Given the description of an element on the screen output the (x, y) to click on. 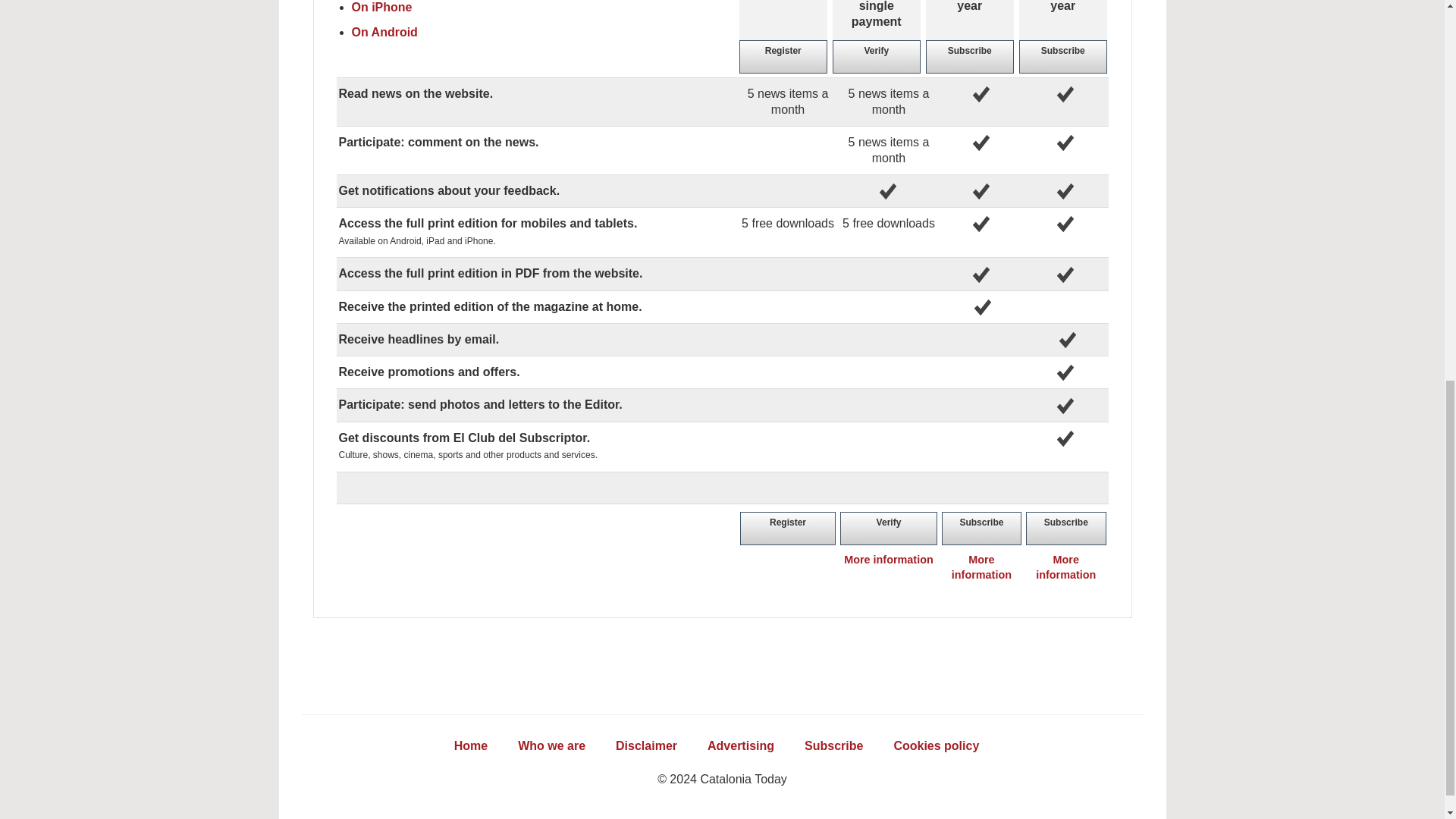
On Android (384, 31)
On iPhone (382, 6)
Register (783, 56)
Verify (876, 56)
